Given the description of an element on the screen output the (x, y) to click on. 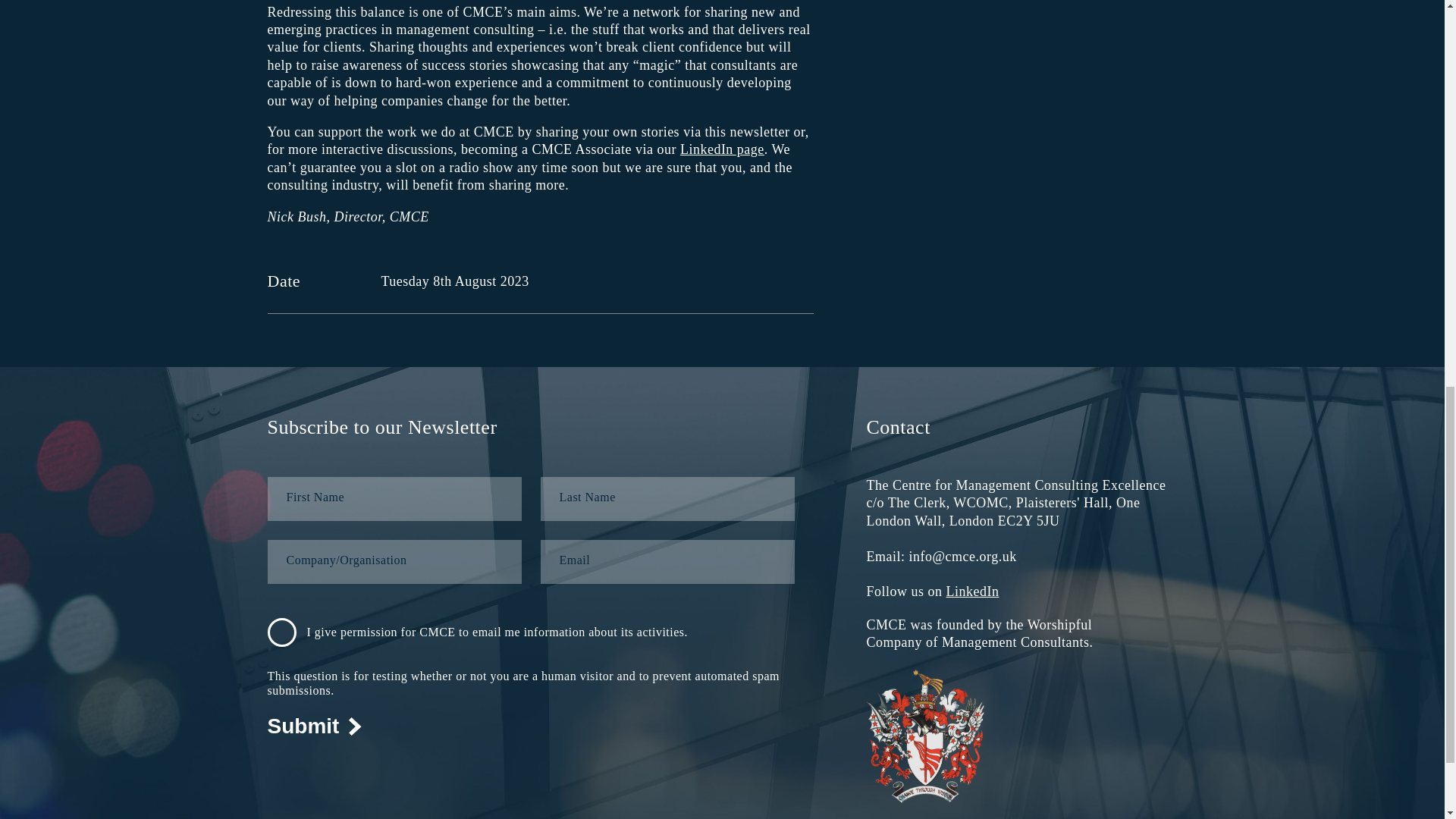
Submit (313, 726)
LinkedIn (972, 590)
Submit (313, 726)
LinkedIn page (721, 149)
